Given the description of an element on the screen output the (x, y) to click on. 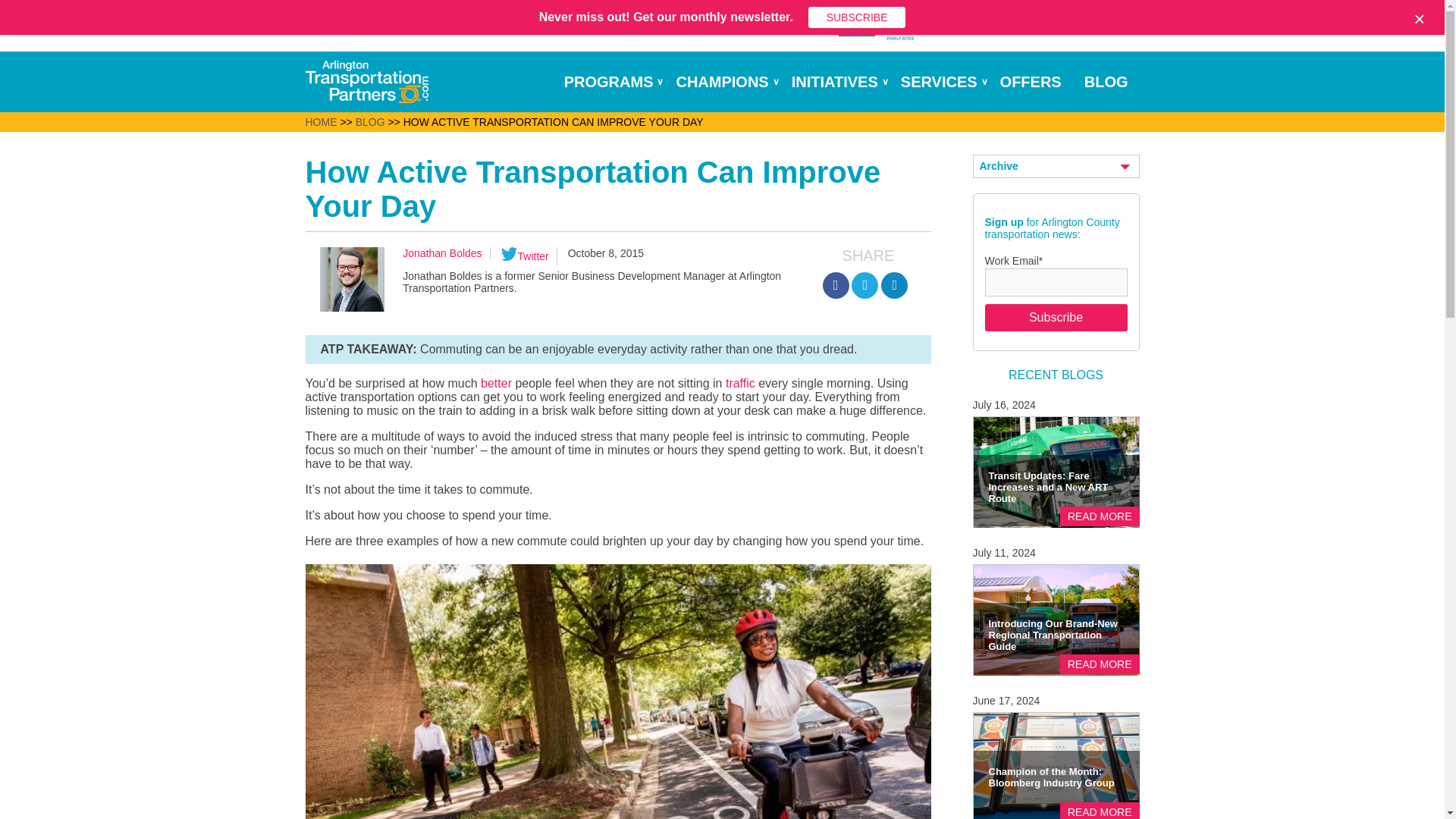
About Us (727, 23)
SERVICES (944, 81)
twitter (864, 285)
FAQ (802, 23)
INITIATIVES (840, 81)
Subscribe (1055, 317)
CHAMPIONS (726, 81)
facebook (835, 285)
OFFERS (1036, 81)
PROGRAMS (614, 81)
BLOG (1112, 81)
ES (857, 24)
linkedin (893, 285)
